Given the description of an element on the screen output the (x, y) to click on. 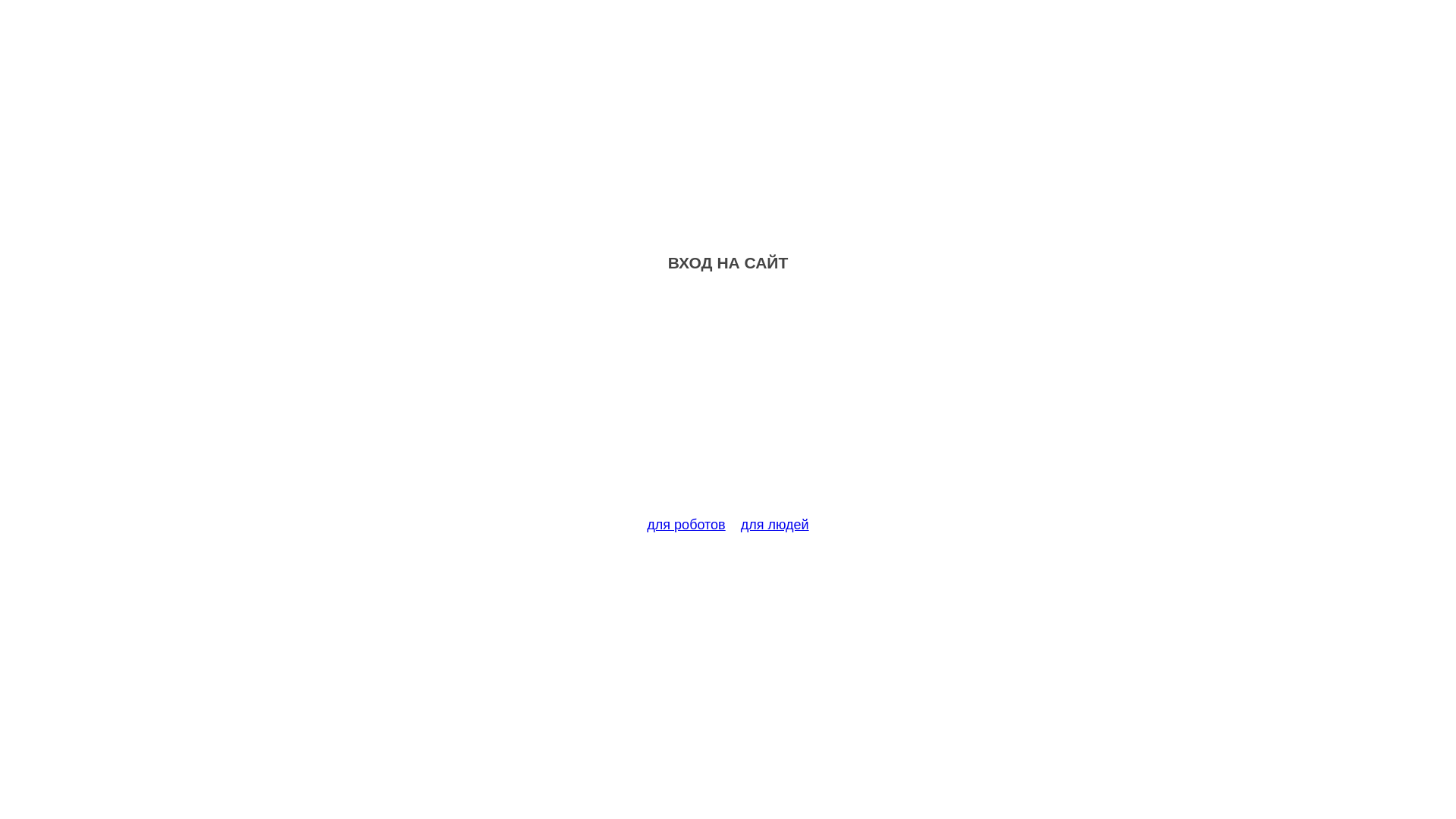
Advertisement Element type: hover (727, 403)
